Given the description of an element on the screen output the (x, y) to click on. 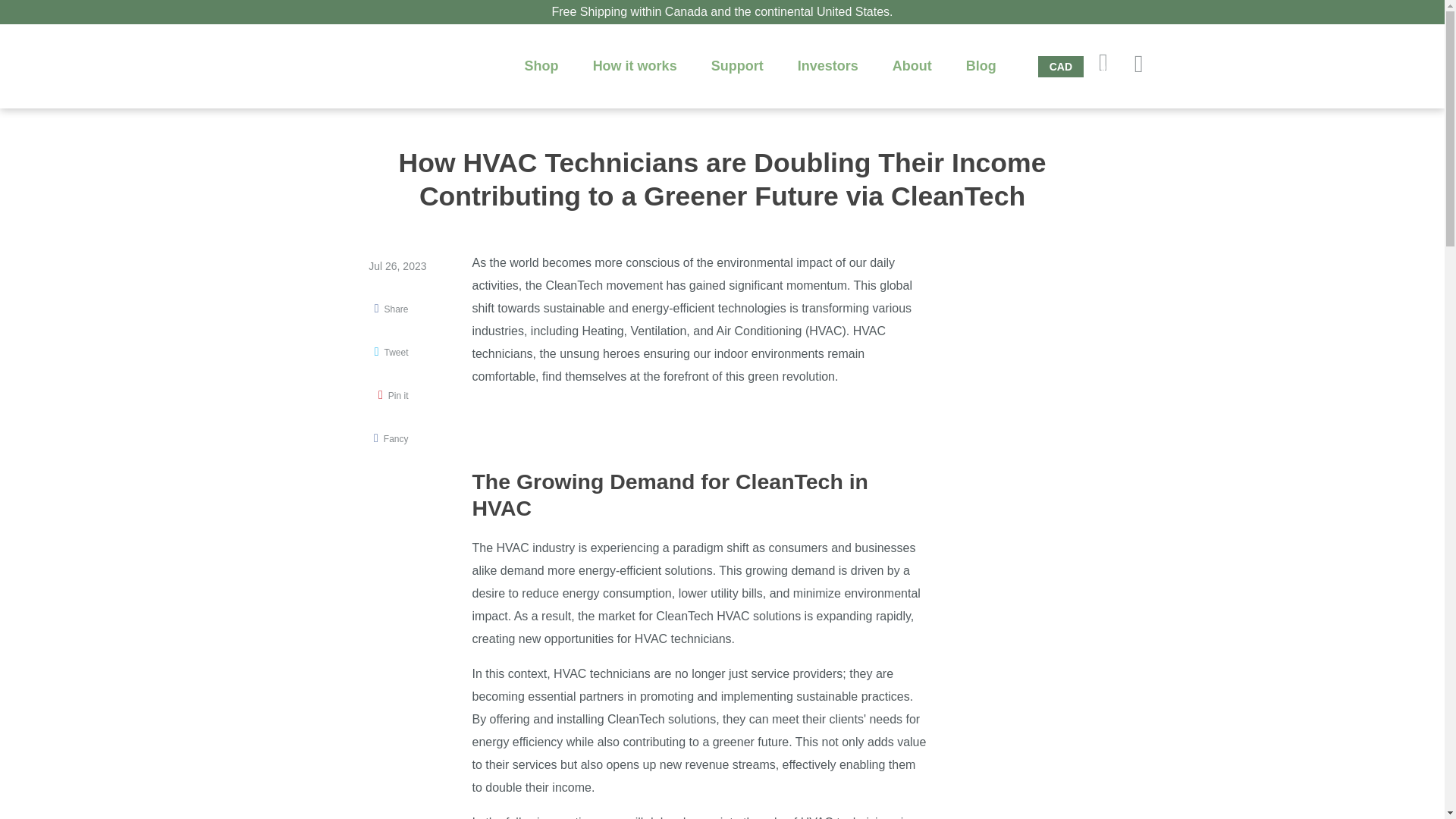
How it works (635, 65)
Fancy (390, 439)
About (912, 65)
Investors (828, 65)
Blog (980, 65)
Share (391, 309)
Support (736, 65)
Pin it (393, 396)
CAD (1060, 66)
Tweet (391, 352)
Shop (541, 65)
